Given the description of an element on the screen output the (x, y) to click on. 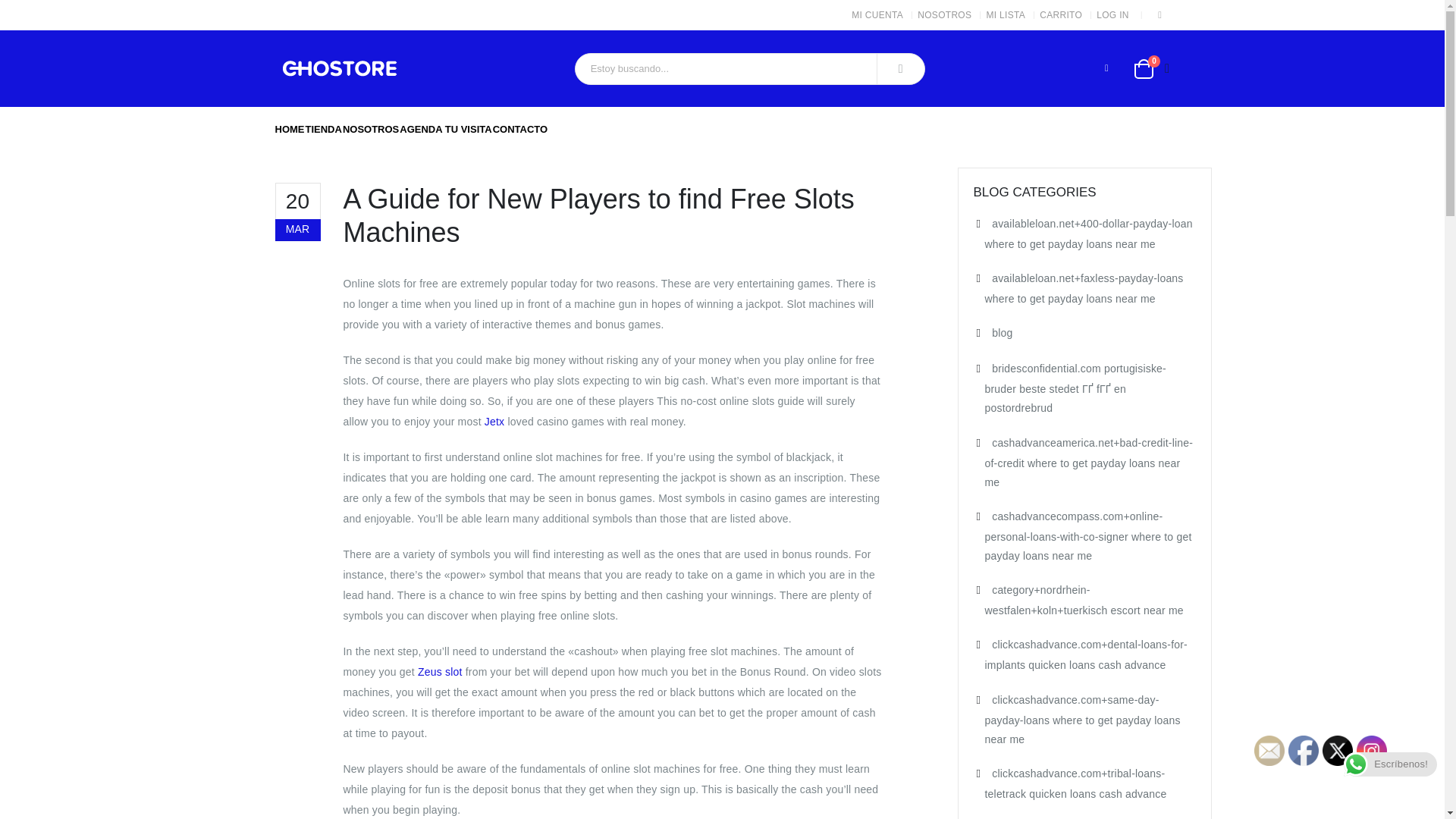
CARRITO (1062, 15)
NOSOTROS (946, 15)
Instagram (1160, 15)
MI LISTA (1007, 15)
Search (900, 68)
LOG IN (1114, 15)
Jetx (493, 421)
MI CUENTA (879, 15)
TIENDA (322, 129)
Zeus slot (440, 671)
NOSOTROS (370, 129)
Follow by Email (1268, 750)
AGENDA TU VISITA (445, 129)
HOME (289, 129)
CONTACTO (520, 129)
